Given the description of an element on the screen output the (x, y) to click on. 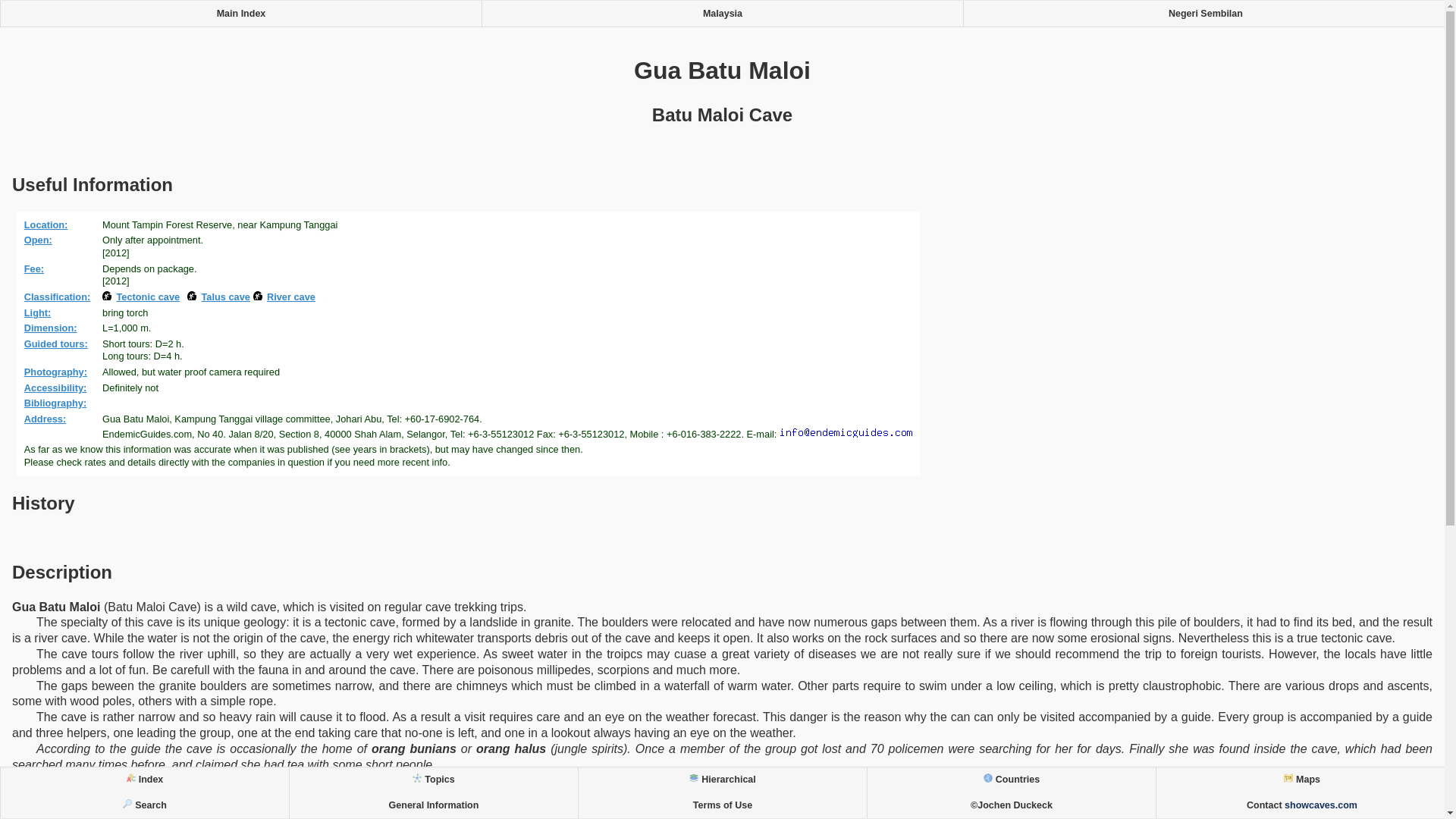
Tectonic cave (142, 296)
Open: (40, 239)
Location: (48, 224)
Topics (433, 780)
River cave (284, 296)
Fee: (36, 268)
Countries (1011, 780)
Hierarchical (722, 780)
Main Index (240, 13)
Address: (47, 419)
